Given the description of an element on the screen output the (x, y) to click on. 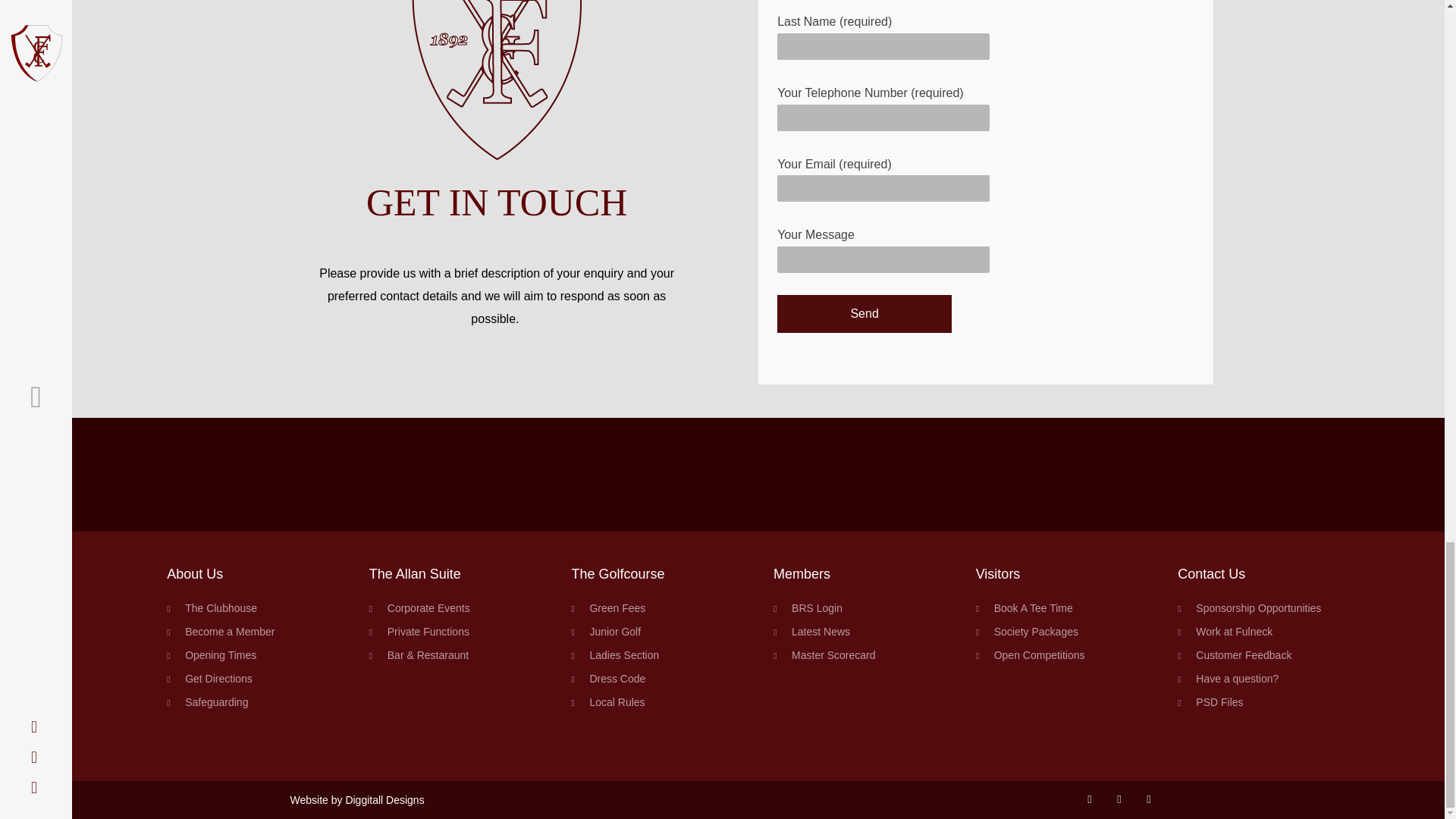
Junior Golf (656, 632)
Book A Tee Time (1061, 608)
The Golfcourse (616, 573)
Private Functions (455, 632)
Corporate Events (455, 608)
Ladies Section (656, 655)
BRS Login (858, 608)
Local Rules (656, 702)
Get Directions (253, 679)
Safeguarding (253, 702)
